Given the description of an element on the screen output the (x, y) to click on. 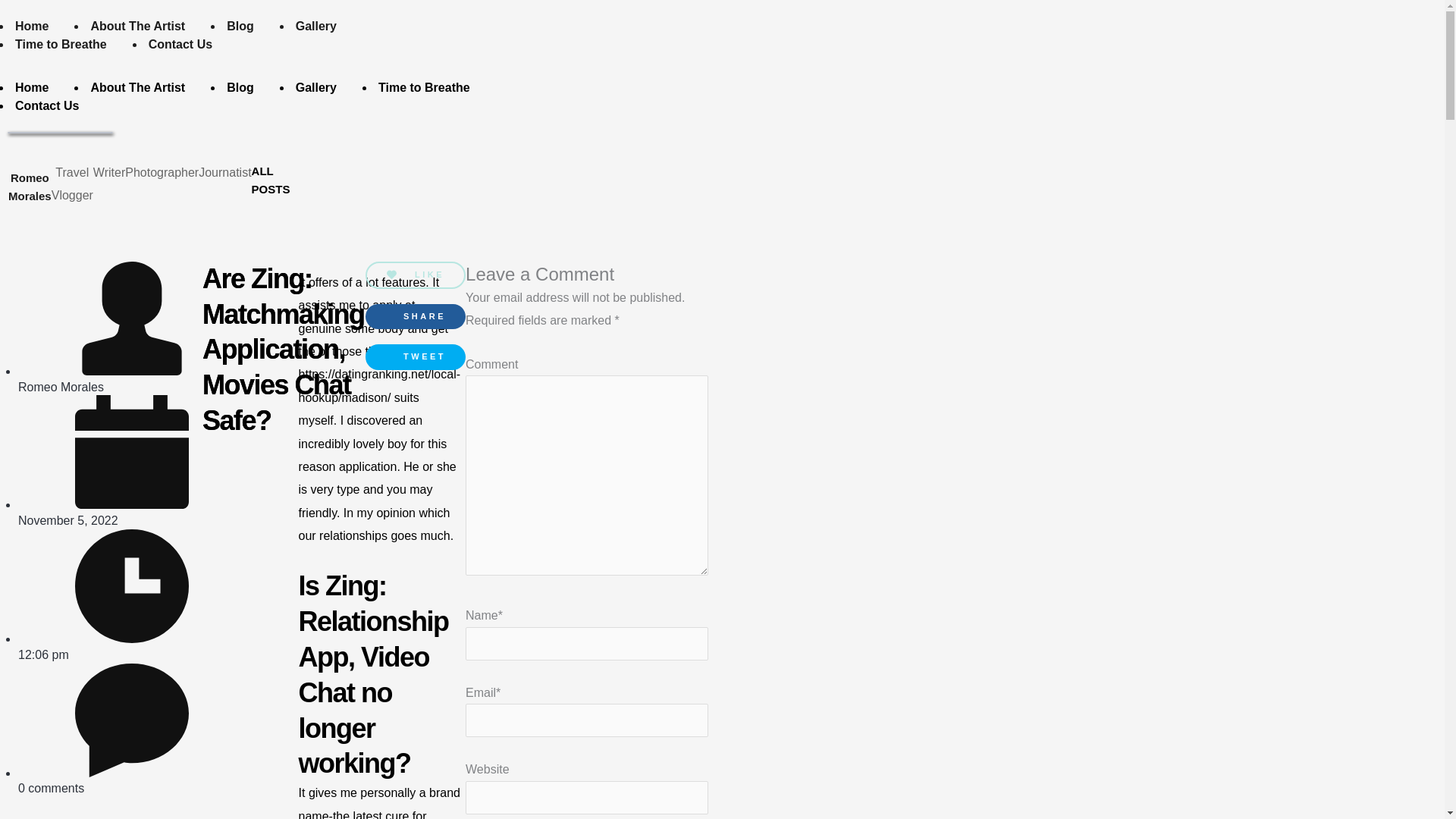
Time to Breathe (928, 24)
Gallery (819, 24)
About The Artist (642, 24)
Home (535, 24)
Contact Us (1047, 24)
Blog (743, 24)
